Given the description of an element on the screen output the (x, y) to click on. 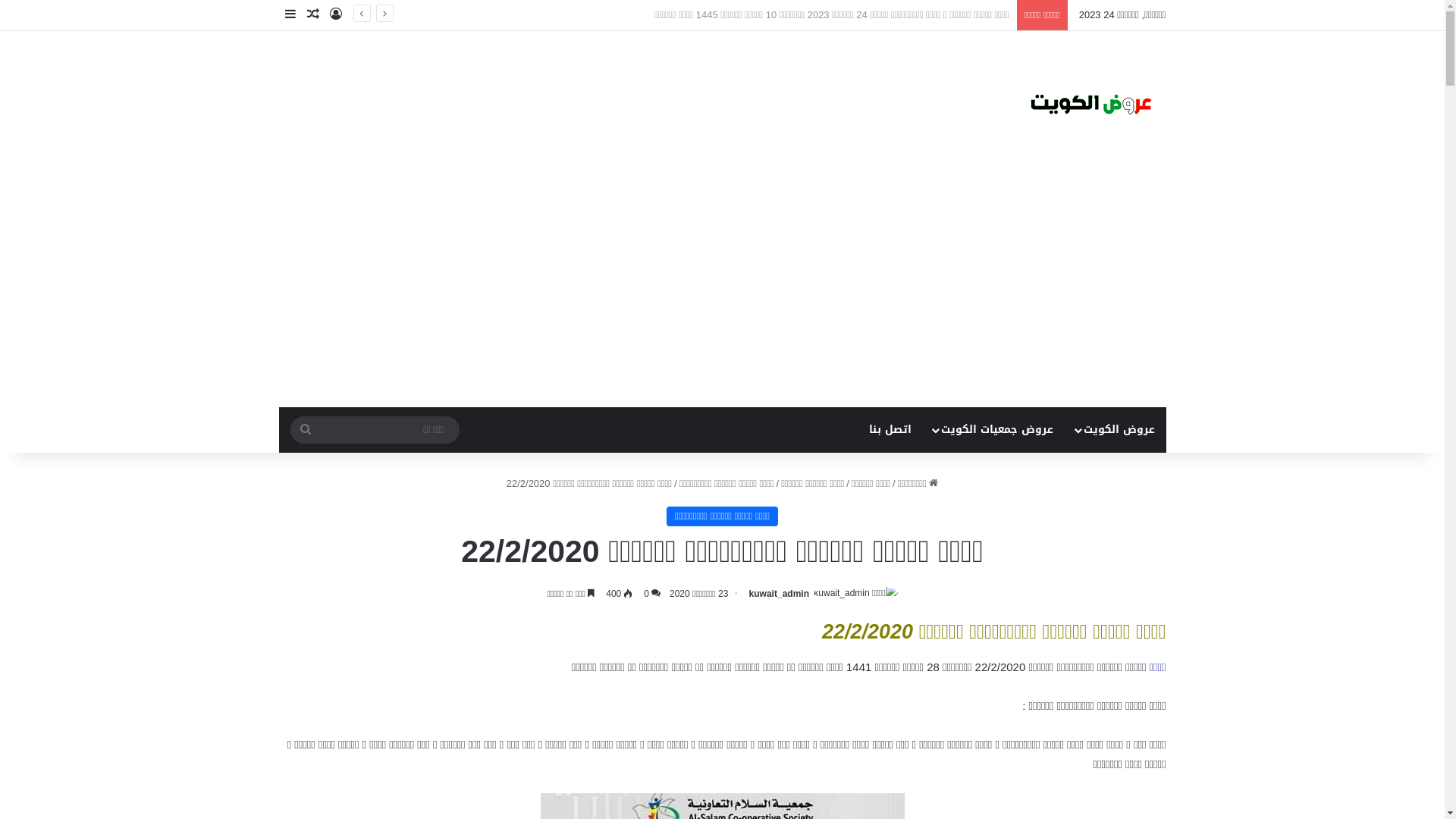
Advertisement Element type: hover (721, 293)
kuwait_admin Element type: text (779, 593)
